Given the description of an element on the screen output the (x, y) to click on. 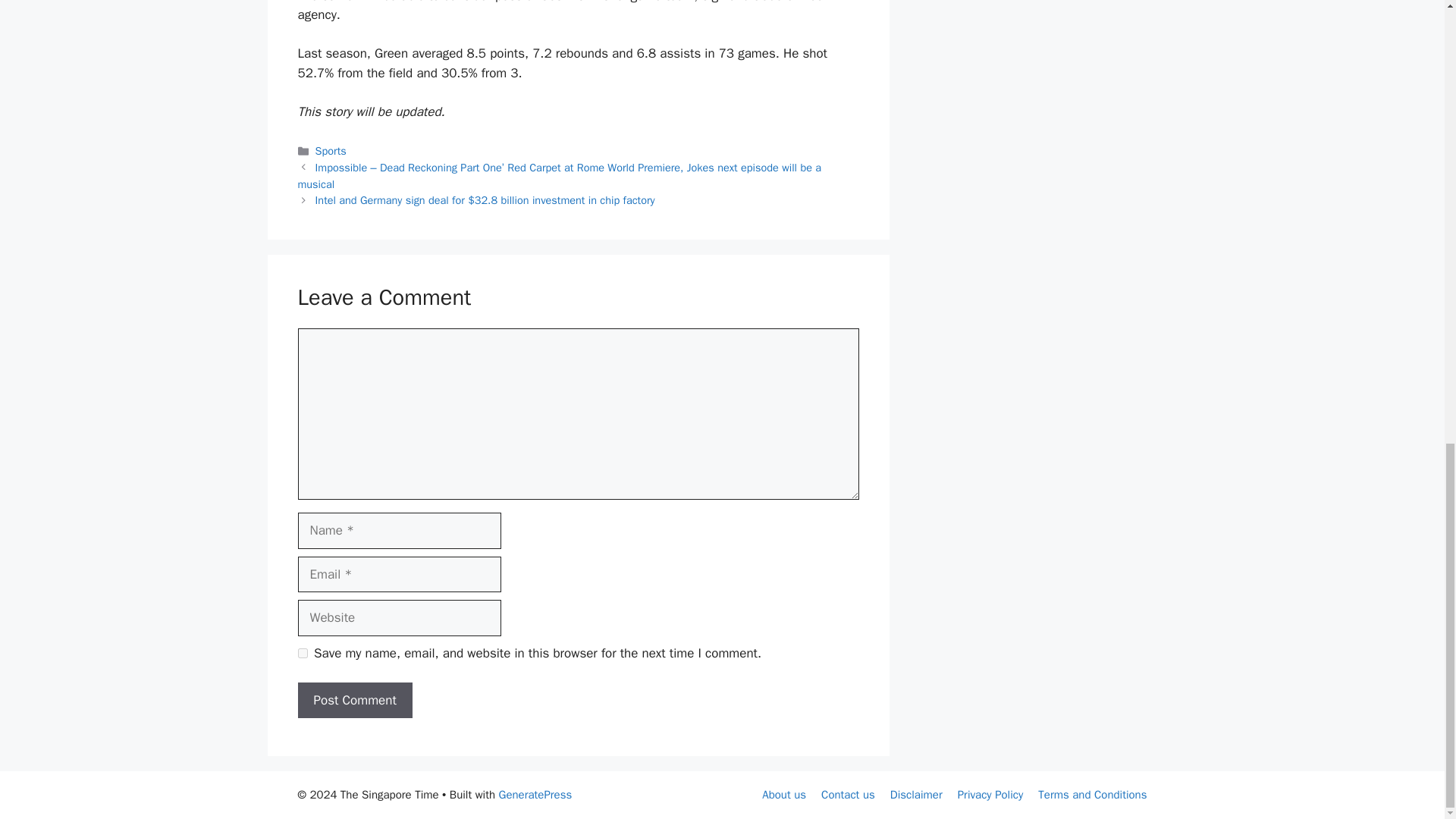
yes (302, 653)
Sports (330, 151)
Privacy Policy (990, 794)
Disclaimer (915, 794)
Post Comment (354, 700)
Terms and Conditions (1092, 794)
About us (783, 794)
Post Comment (354, 700)
Contact us (848, 794)
Scroll back to top (1406, 565)
GeneratePress (535, 794)
